Given the description of an element on the screen output the (x, y) to click on. 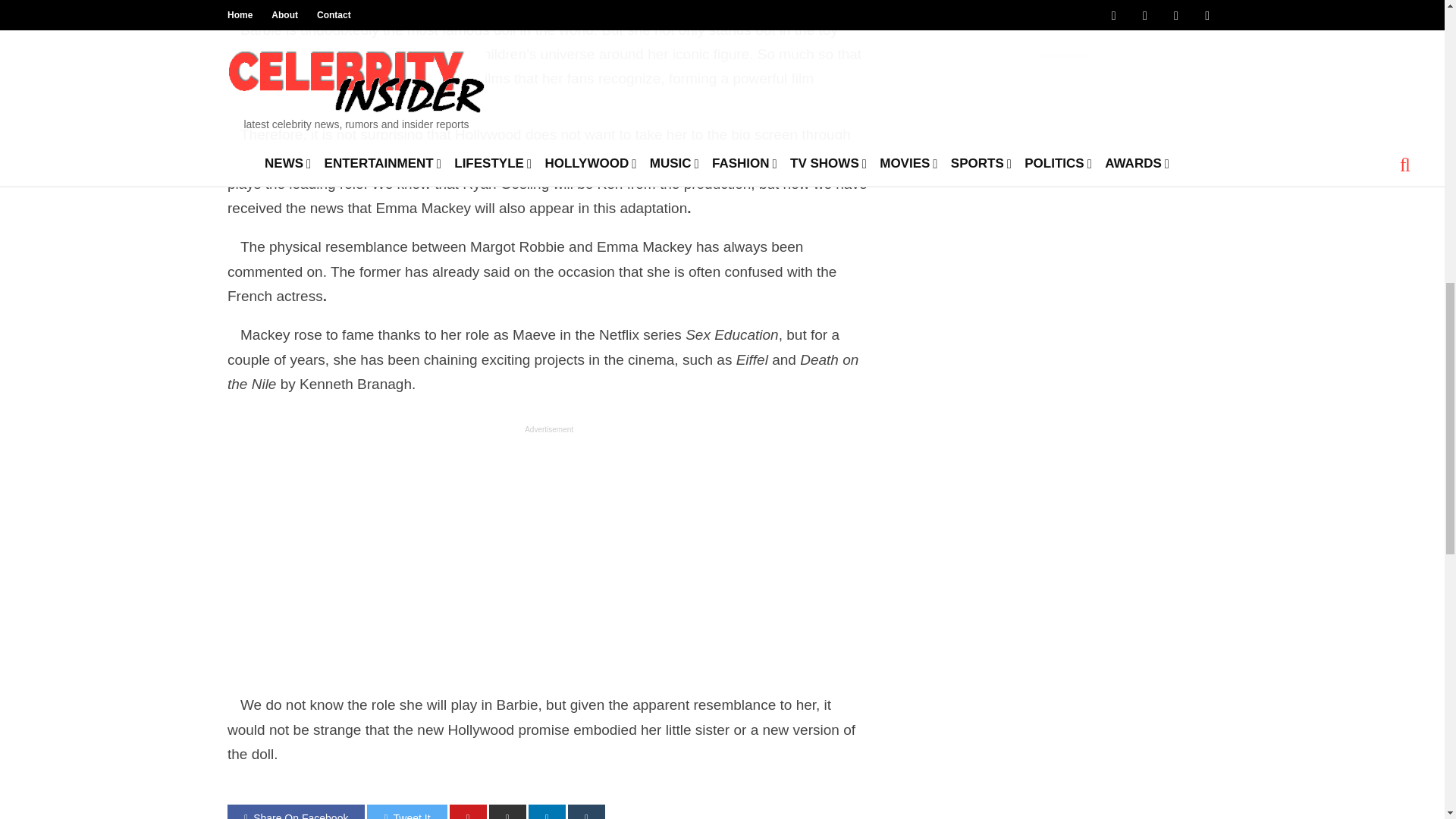
Share On Twitter (406, 811)
Share On Facebook (296, 811)
Share On Pinterest (467, 811)
Share On Reddit (507, 811)
Share On Tumblr (586, 811)
Share On Linkedin (547, 811)
